Given the description of an element on the screen output the (x, y) to click on. 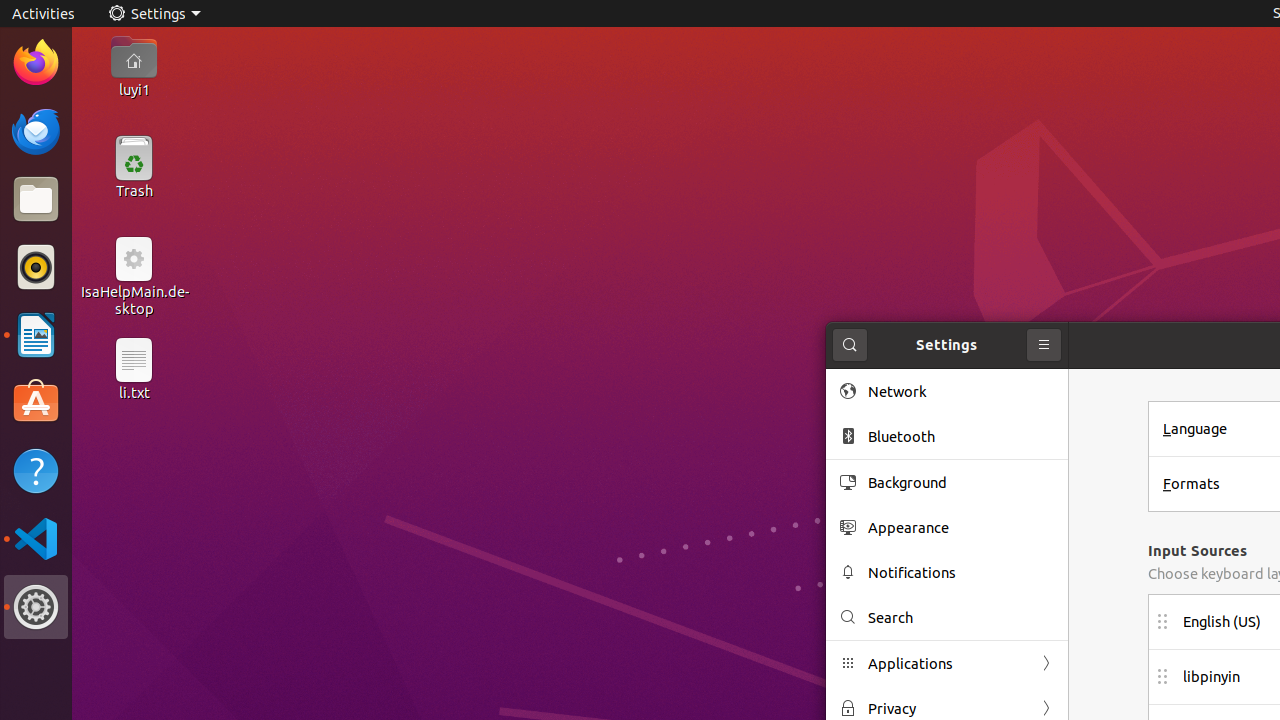
Forward Element type: icon (1046, 708)
Thunderbird Mail Element type: push-button (36, 131)
Search Element type: toggle-button (850, 345)
Help Element type: push-button (36, 470)
Files Element type: push-button (36, 199)
